Given the description of an element on the screen output the (x, y) to click on. 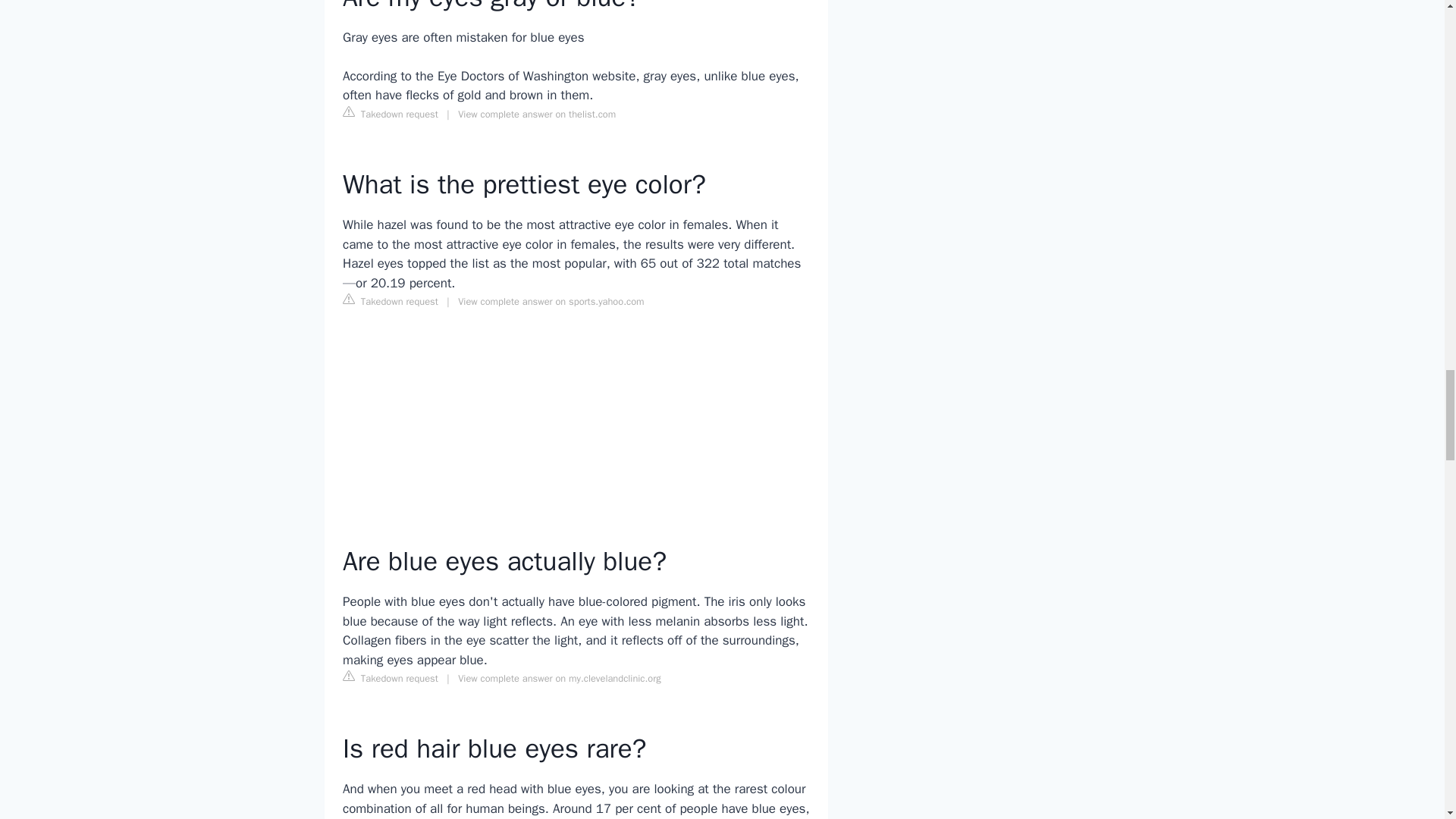
Takedown request (390, 300)
Takedown request (390, 677)
View complete answer on my.clevelandclinic.org (559, 678)
Takedown request (390, 113)
View complete answer on thelist.com (536, 114)
View complete answer on sports.yahoo.com (550, 301)
